Given the description of an element on the screen output the (x, y) to click on. 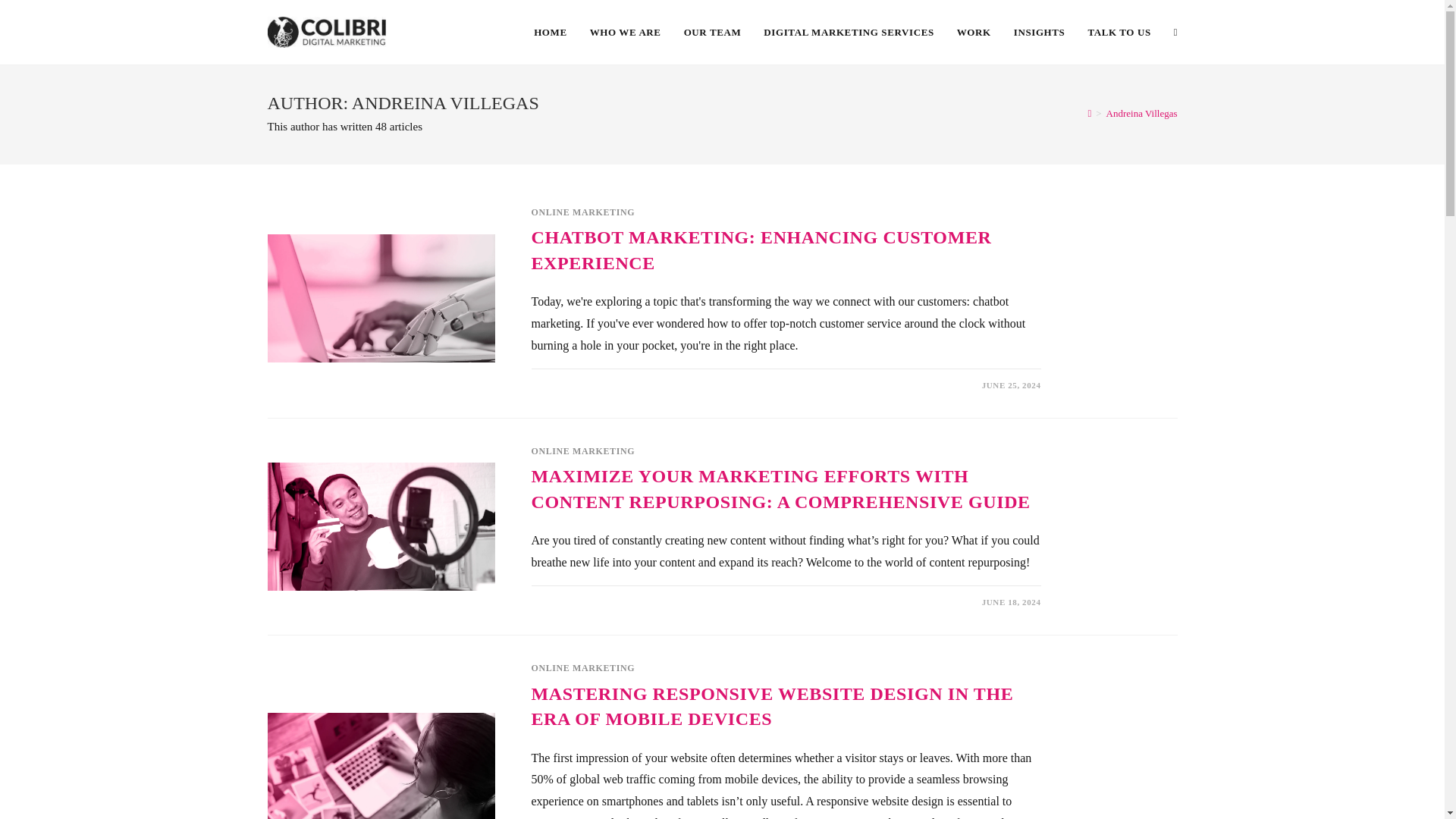
OUR TEAM (712, 32)
ONLINE MARKETING (582, 450)
TALK TO US (1118, 32)
WHO WE ARE (625, 32)
CHATBOT MARKETING: ENHANCING CUSTOMER EXPERIENCE (761, 249)
INSIGHTS (1040, 32)
DIGITAL MARKETING SERVICES (848, 32)
ONLINE MARKETING (582, 212)
Andreina Villegas (1141, 112)
ONLINE MARKETING (582, 667)
